Given the description of an element on the screen output the (x, y) to click on. 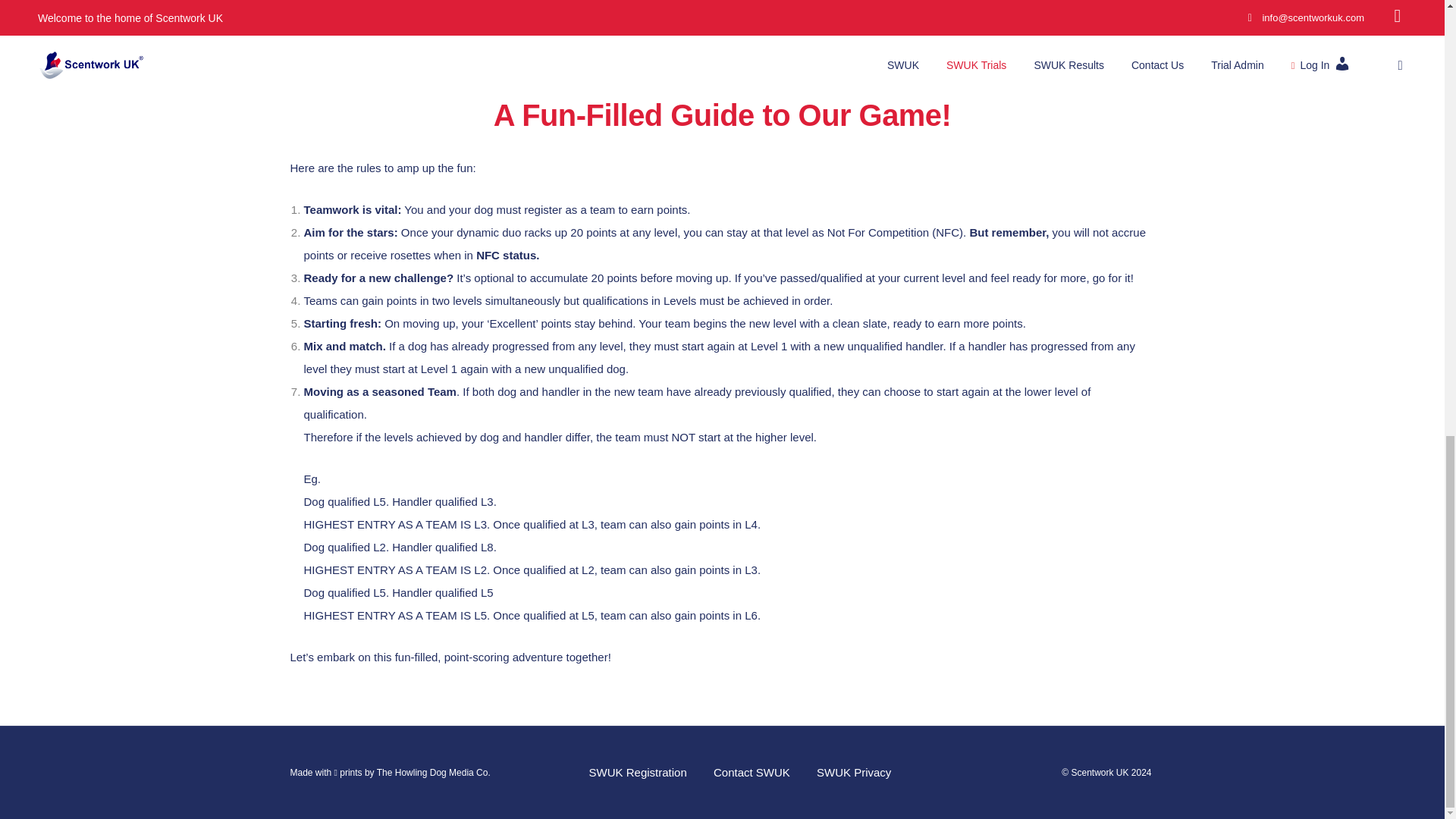
SWUK Registration (638, 771)
Made with prints by The Howling Dog Media Co. (389, 772)
Contact SWUK (751, 771)
SWUK Privacy (853, 771)
